Given the description of an element on the screen output the (x, y) to click on. 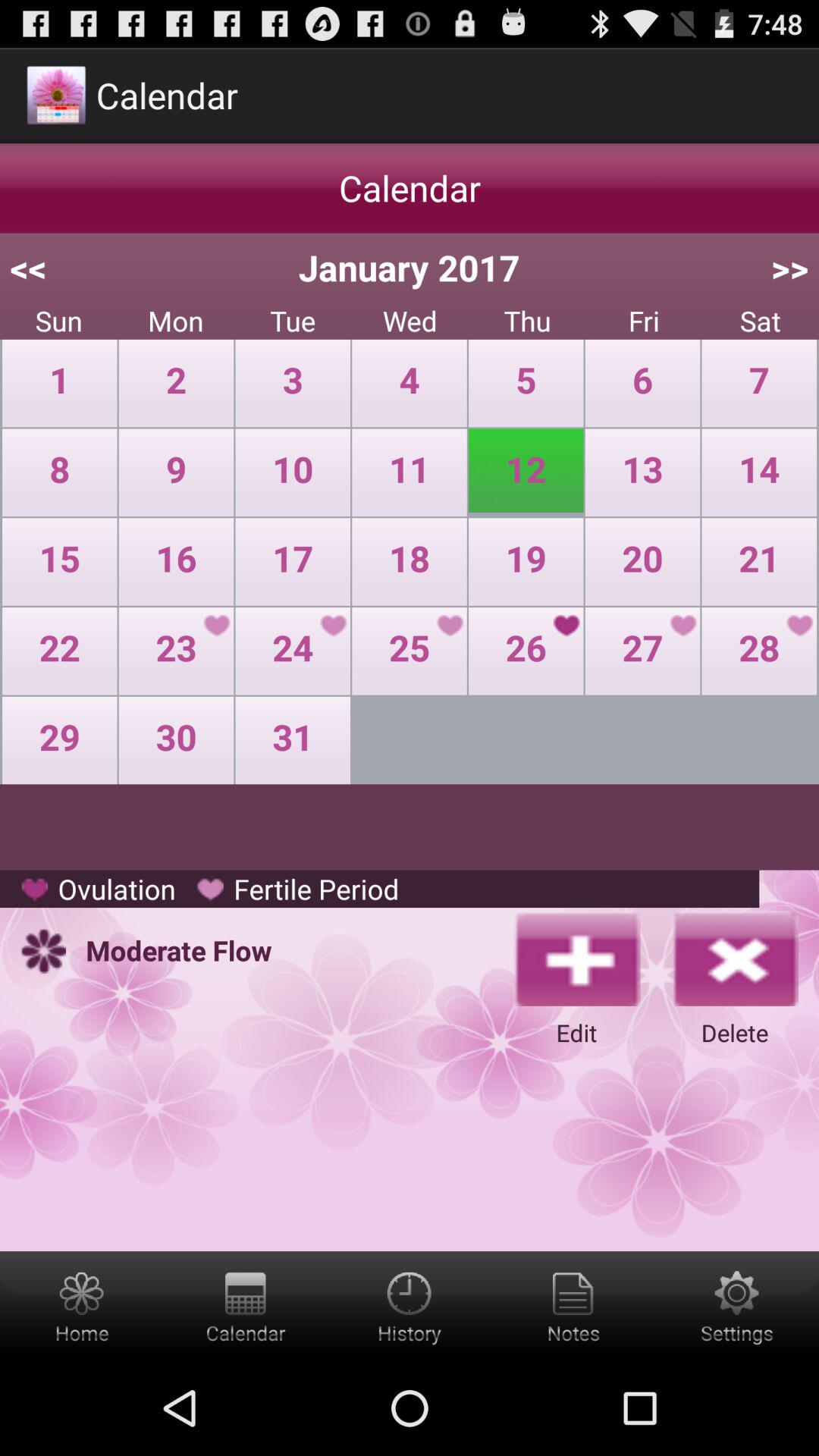
delete info (734, 958)
